Given the description of an element on the screen output the (x, y) to click on. 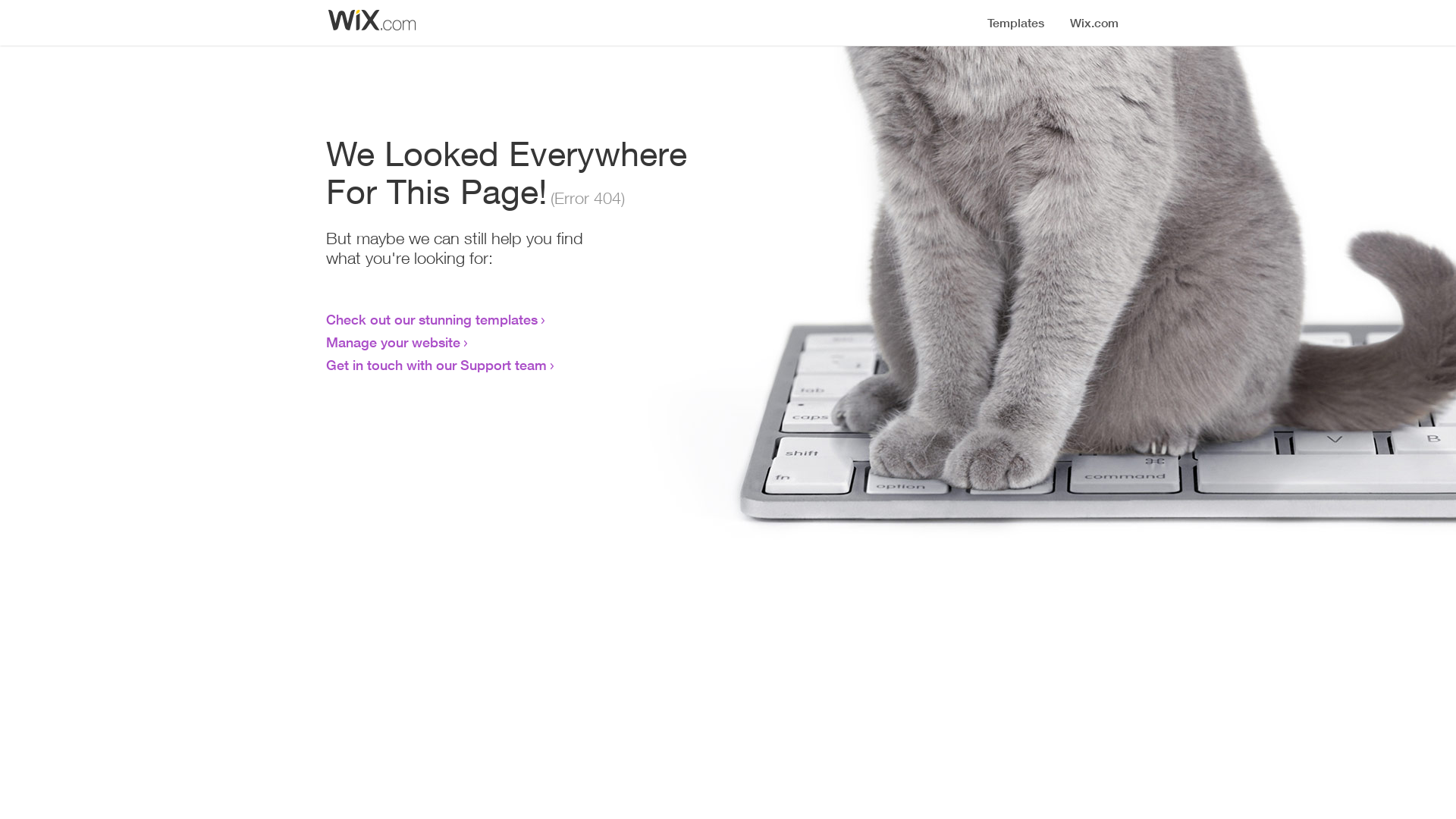
Manage your website Element type: text (393, 341)
Check out our stunning templates Element type: text (431, 318)
Get in touch with our Support team Element type: text (436, 364)
